Given the description of an element on the screen output the (x, y) to click on. 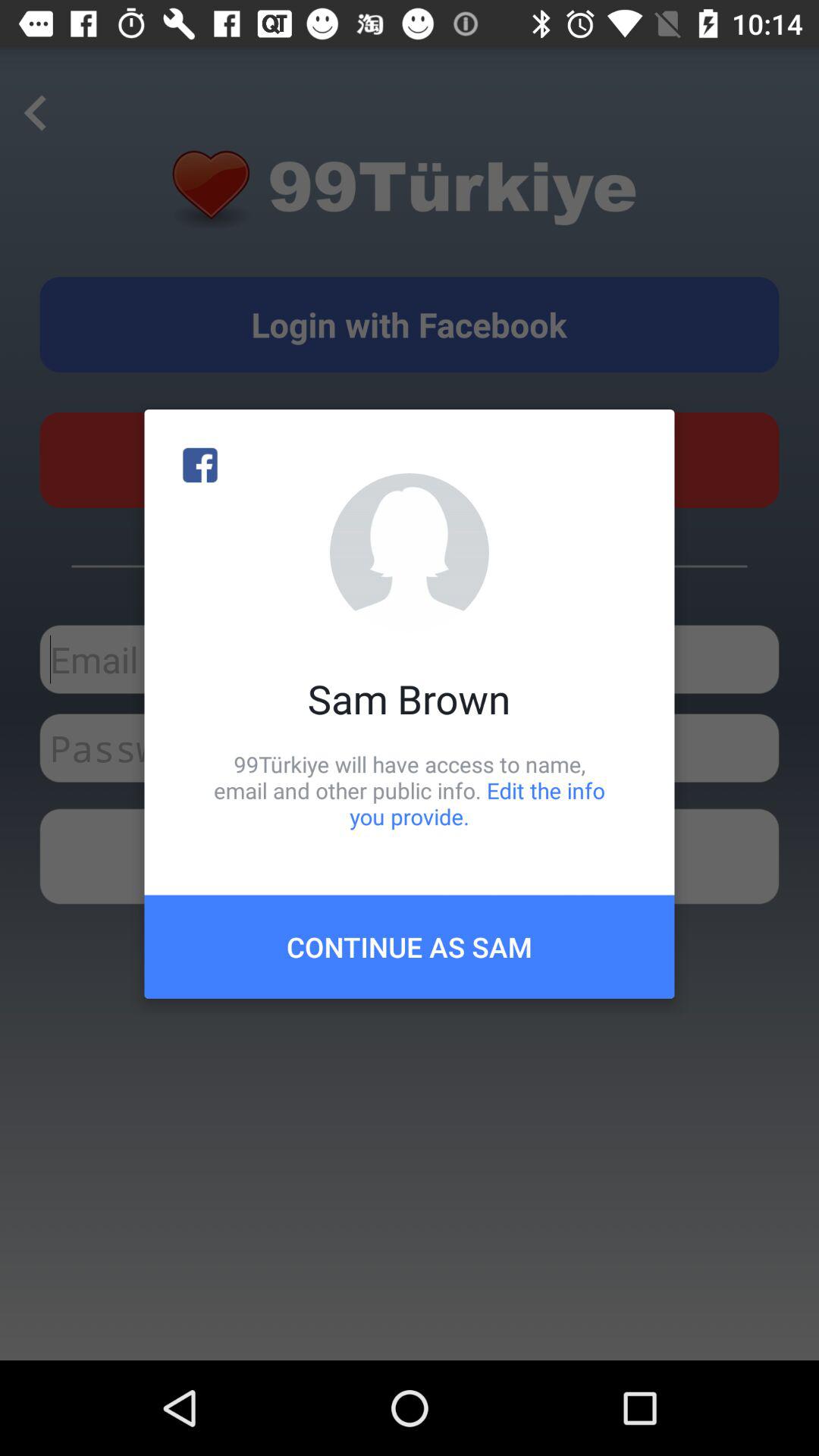
click the icon above the continue as sam icon (409, 790)
